Given the description of an element on the screen output the (x, y) to click on. 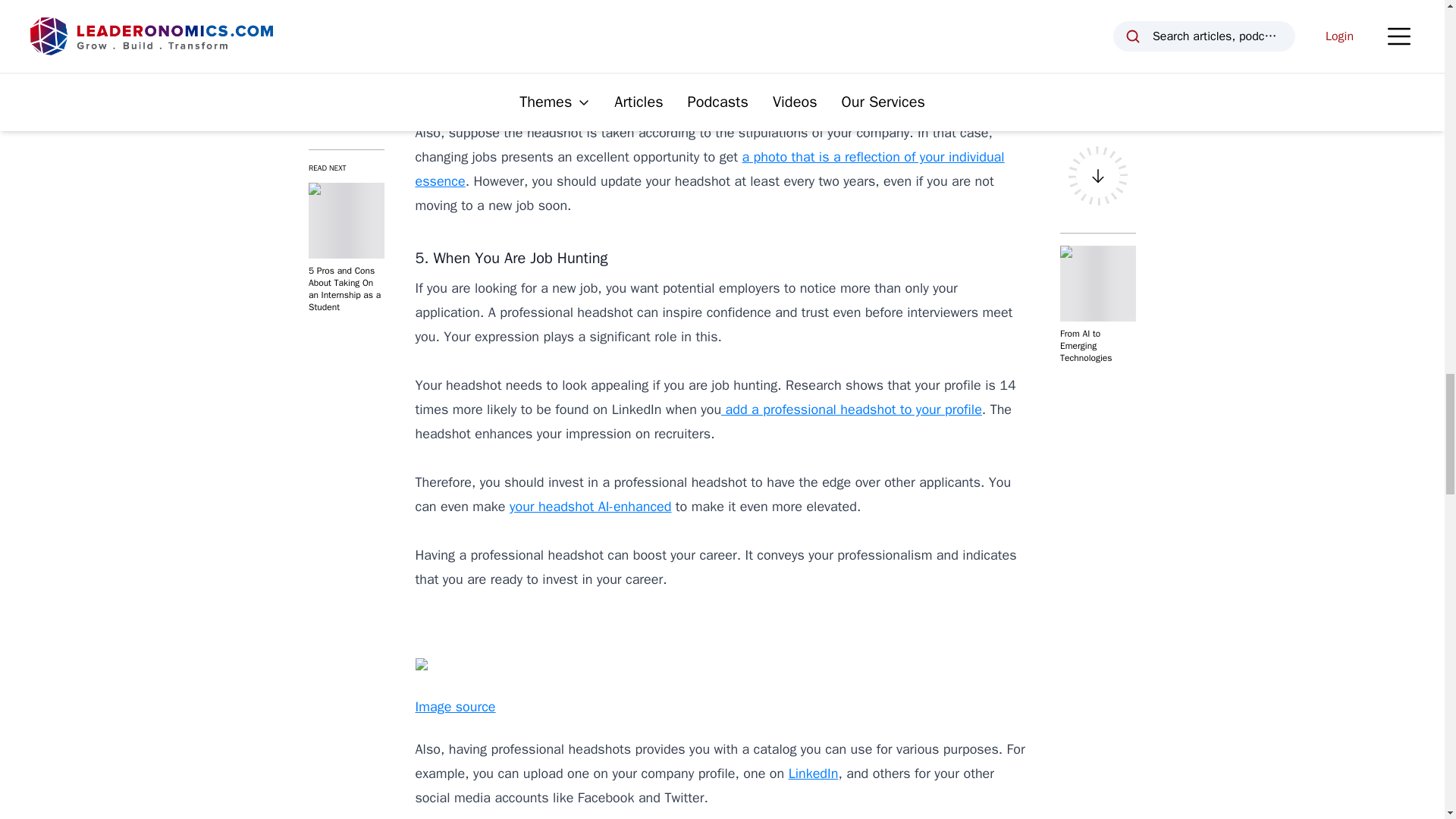
 add a professional headshot to your profile (850, 409)
a photo that is a reflection of your individual essence (709, 168)
Image source (455, 706)
LinkedIn (813, 773)
your headshot AI-enhanced (590, 506)
Image source (455, 89)
